Given the description of an element on the screen output the (x, y) to click on. 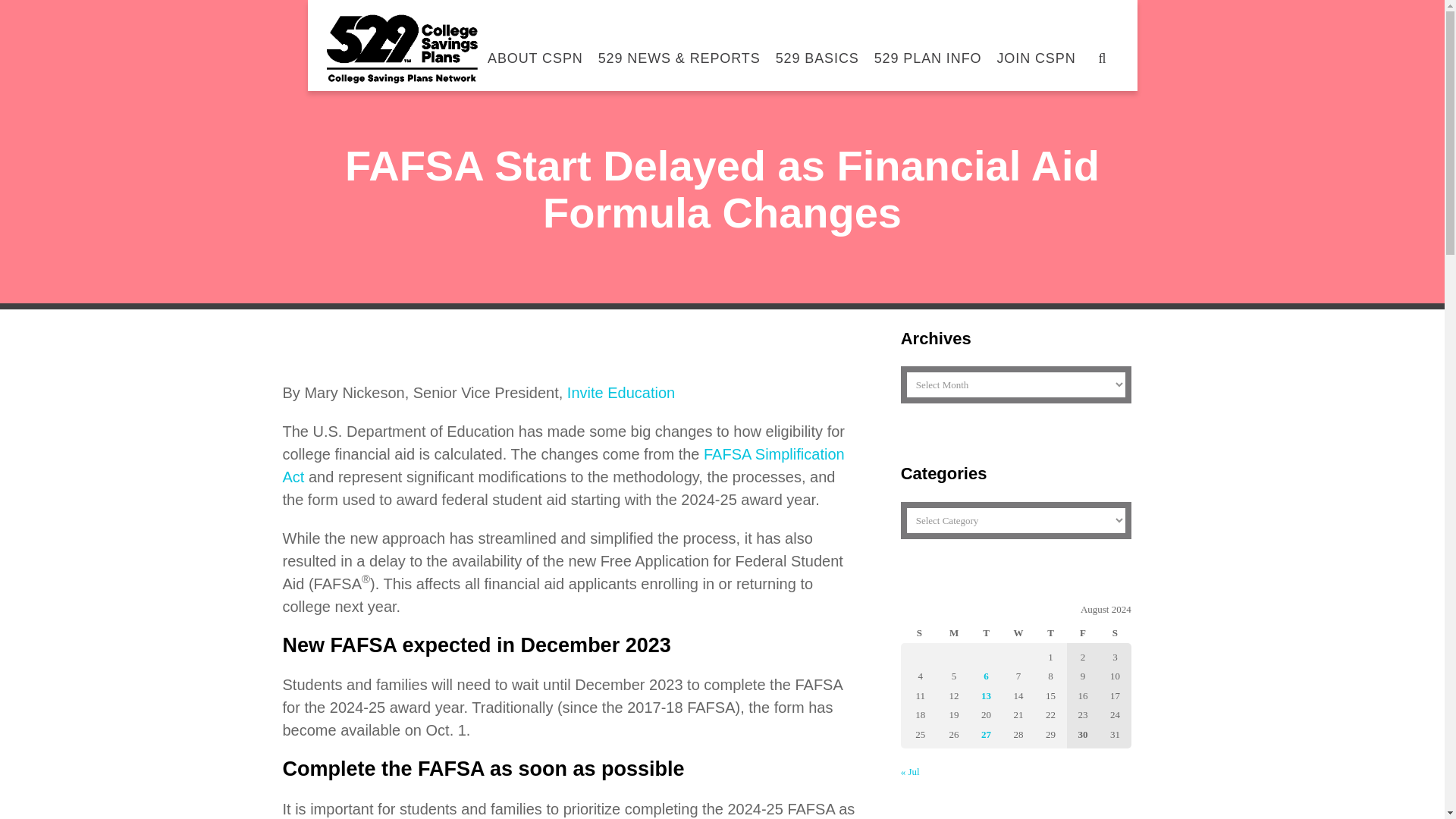
ABOUT CSPN (535, 50)
Monday (953, 631)
529 BASICS (817, 50)
Go back to the homepage (401, 48)
Wednesday (1018, 631)
JOIN CSPN (1035, 50)
529 PLAN INFO (928, 50)
Thursday (1049, 631)
Saturday (1115, 631)
Sunday (919, 631)
